Given the description of an element on the screen output the (x, y) to click on. 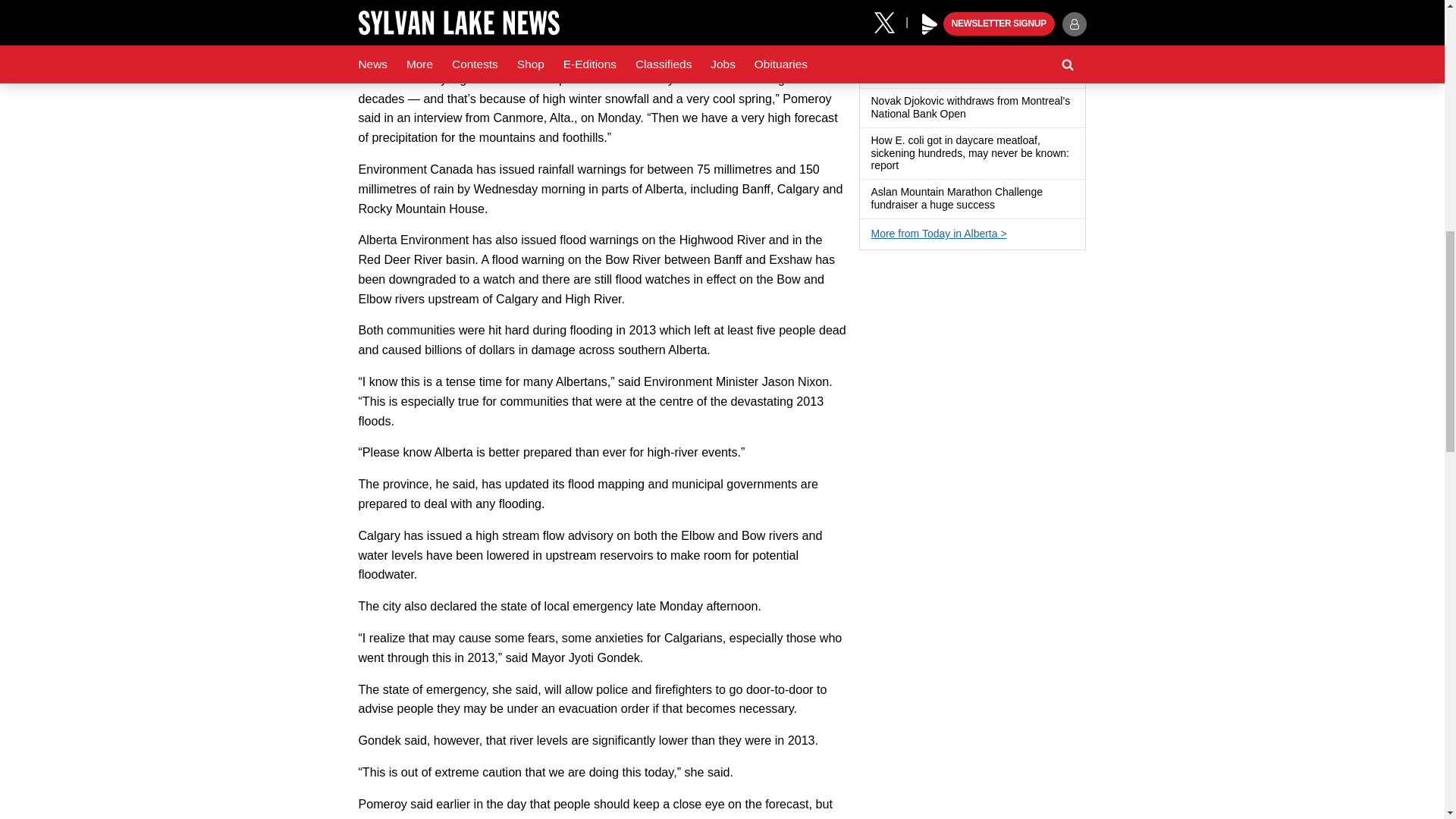
Has a gallery (1003, 205)
